Given the description of an element on the screen output the (x, y) to click on. 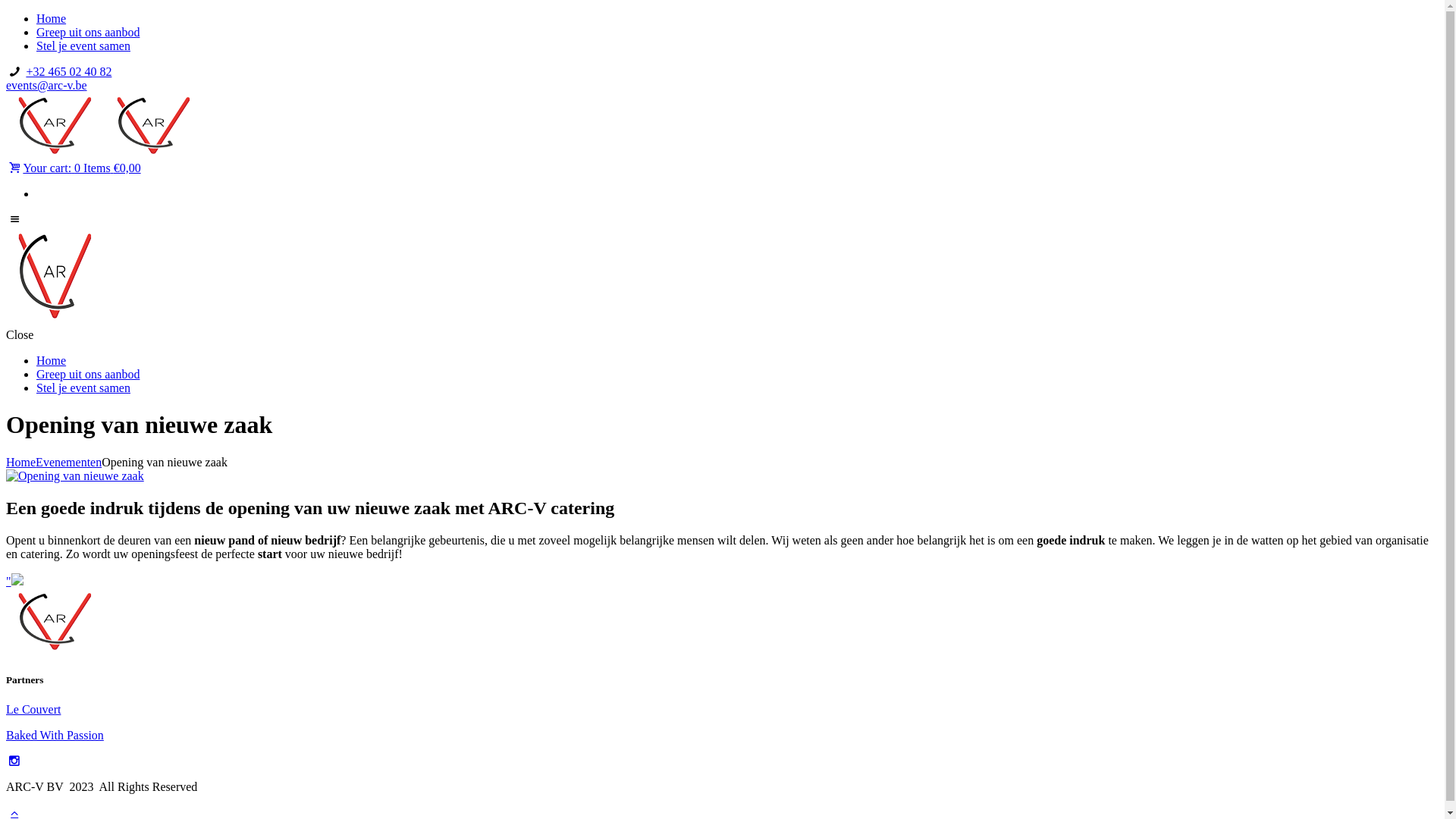
events@arc-v.be Element type: text (46, 84)
+32 465 02 40 82 Element type: text (68, 71)
" Element type: text (14, 580)
Home Element type: text (50, 360)
Stel je event samen Element type: text (83, 387)
Opening van nieuwe zaak Element type: hover (75, 475)
Baked With Passion Element type: text (54, 734)
Greep uit ons aanbod Element type: text (87, 373)
Home Element type: text (50, 18)
Greep uit ons aanbod Element type: text (87, 31)
Stel je event samen Element type: text (83, 45)
Home Element type: text (20, 461)
Evenementen Element type: text (68, 461)
Le Couvert Element type: text (33, 708)
